Given the description of an element on the screen output the (x, y) to click on. 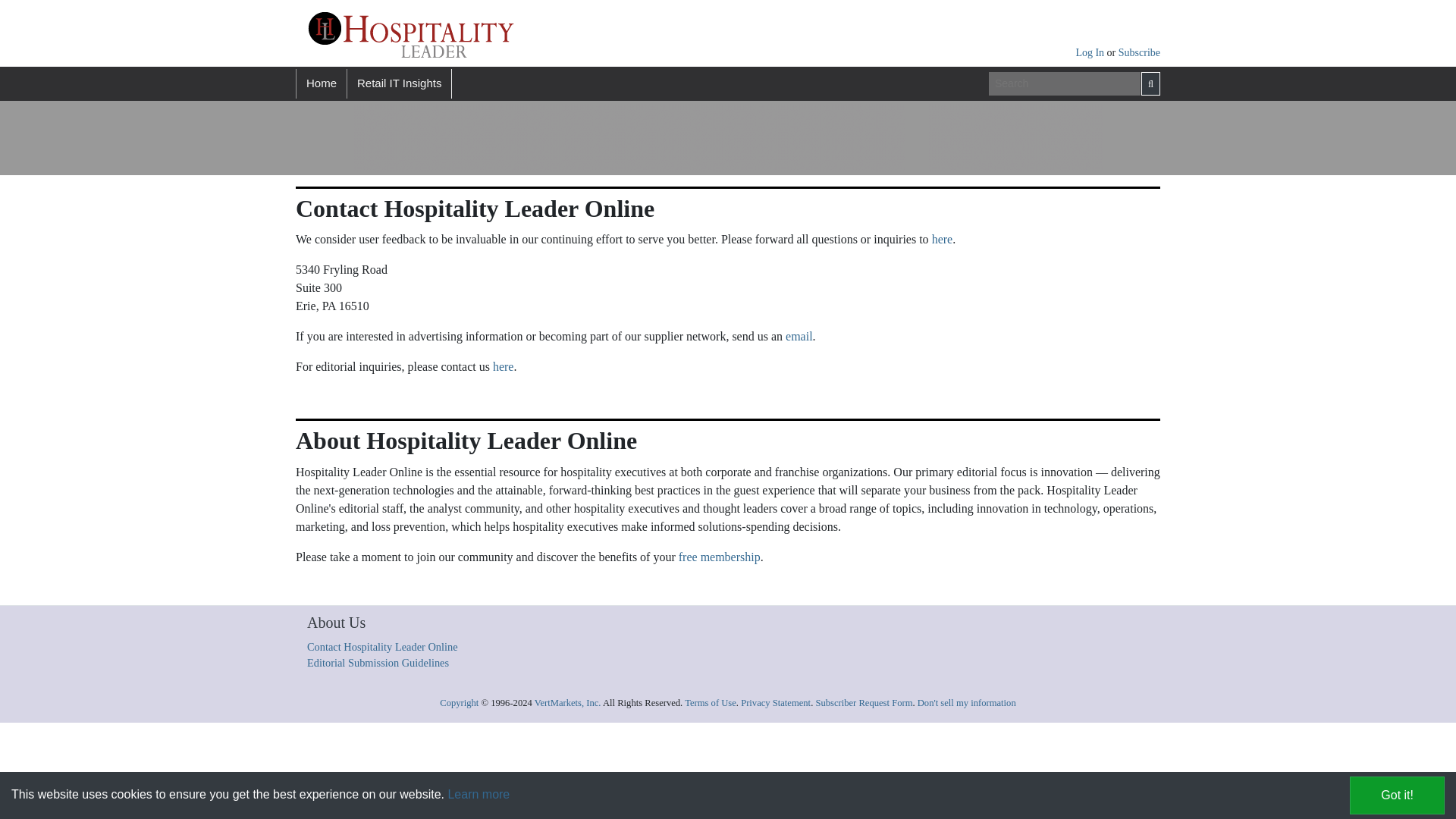
Subscriber Request Form (863, 702)
here (503, 366)
Subscribe (1139, 52)
3rd party ad content (629, 137)
VertMarkets, Inc. (567, 702)
Contact Hospitality Leader Online (382, 646)
3rd party ad content (1015, 137)
Retail IT Insights (398, 83)
Privacy Statement (775, 702)
Editorial Submission Guidelines (377, 662)
Copyright (459, 702)
Terms of Use (710, 702)
Don't sell my information (966, 702)
Log In (1090, 52)
Home (320, 83)
